Given the description of an element on the screen output the (x, y) to click on. 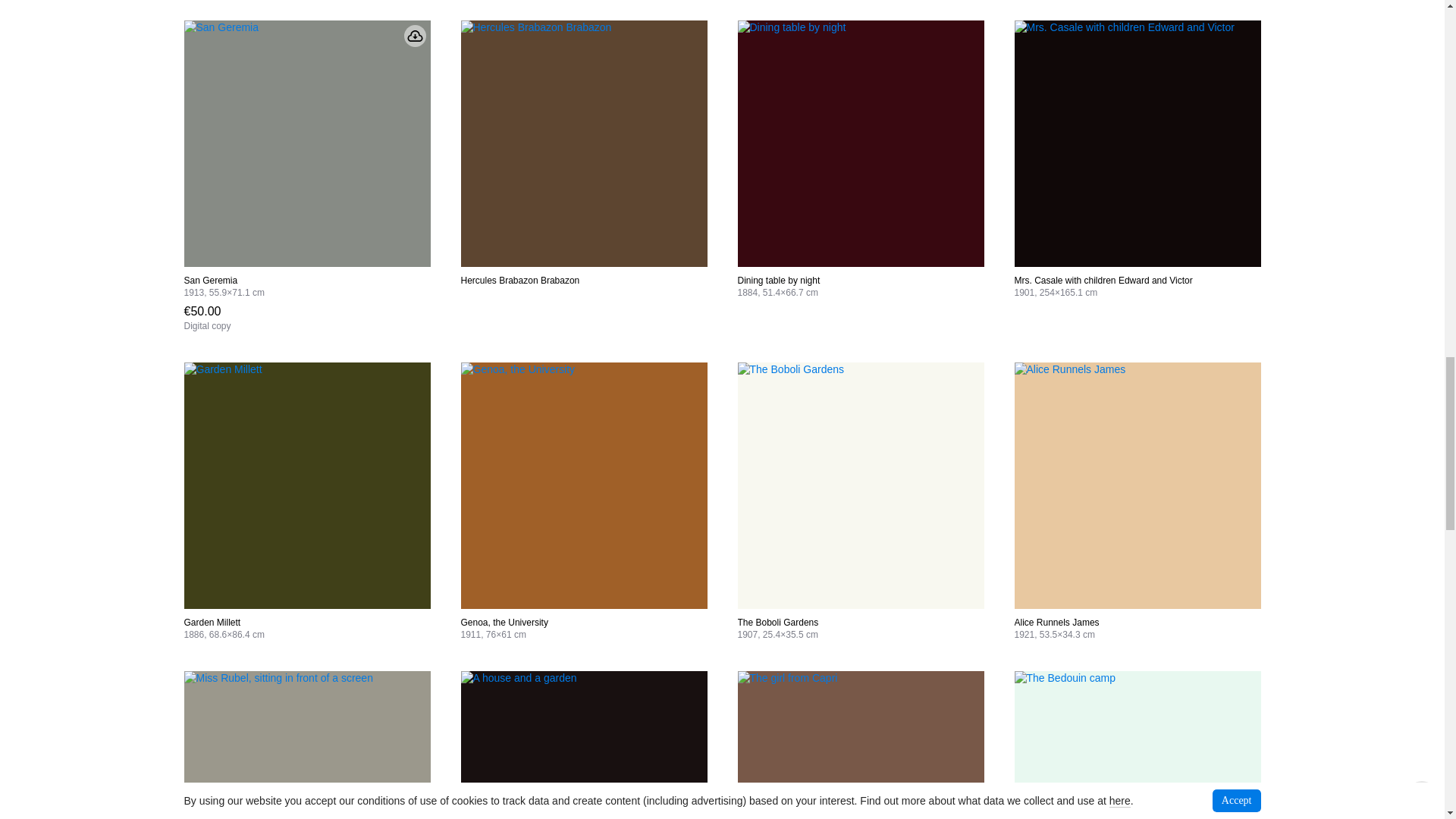
Mrs. Casale with children Edward and Victor (1137, 143)
San Geremia (306, 143)
Garden Millett (306, 485)
Dining table by night (860, 143)
Hercules Brabazon Brabazon (584, 143)
Buy digital copy (206, 317)
